Given the description of an element on the screen output the (x, y) to click on. 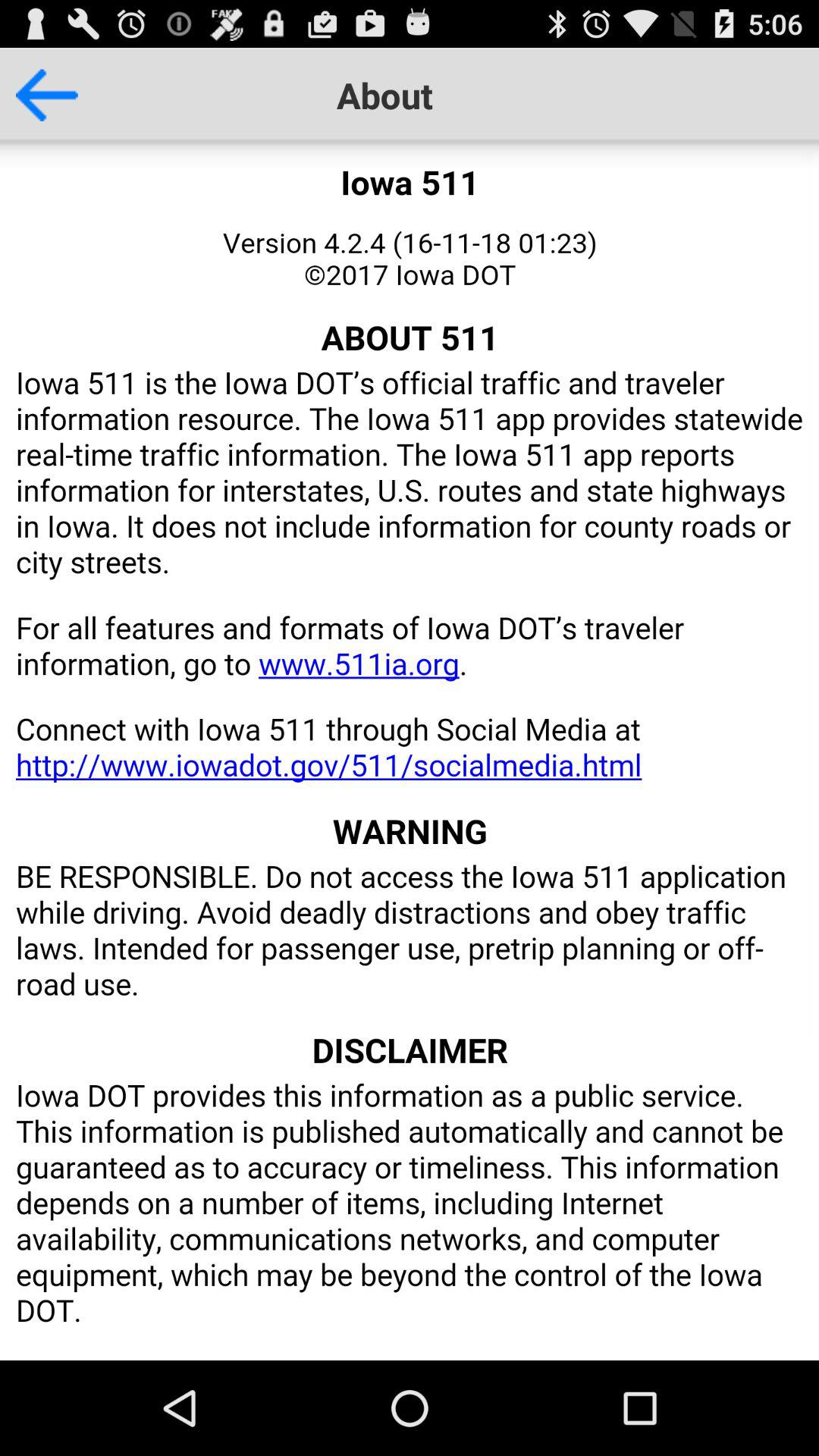
go to back arrow option (38, 95)
